Given the description of an element on the screen output the (x, y) to click on. 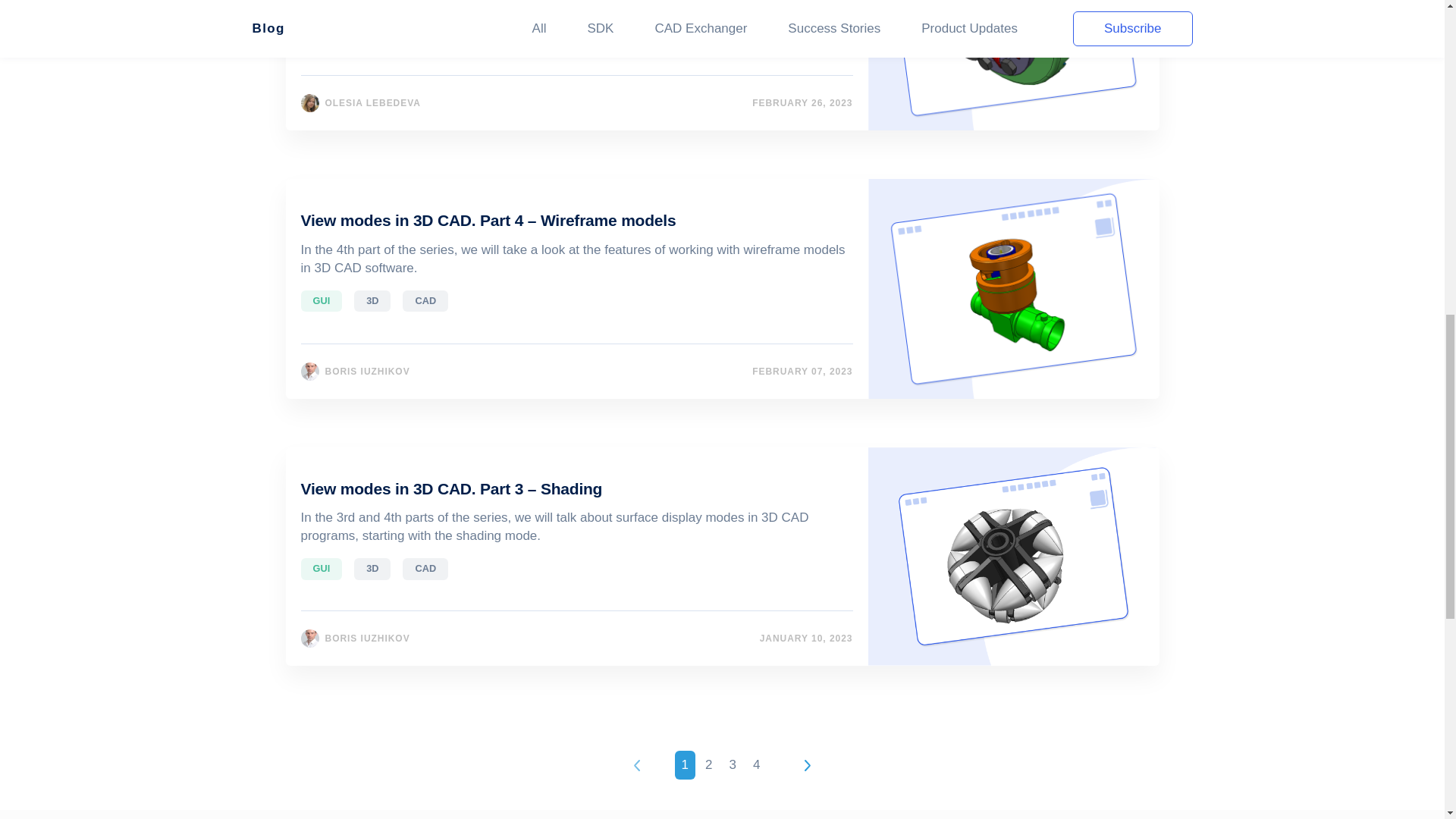
Boris Iuzhikov (308, 638)
Olesia Lebedeva (308, 103)
Boris Iuzhikov (308, 371)
